Given the description of an element on the screen output the (x, y) to click on. 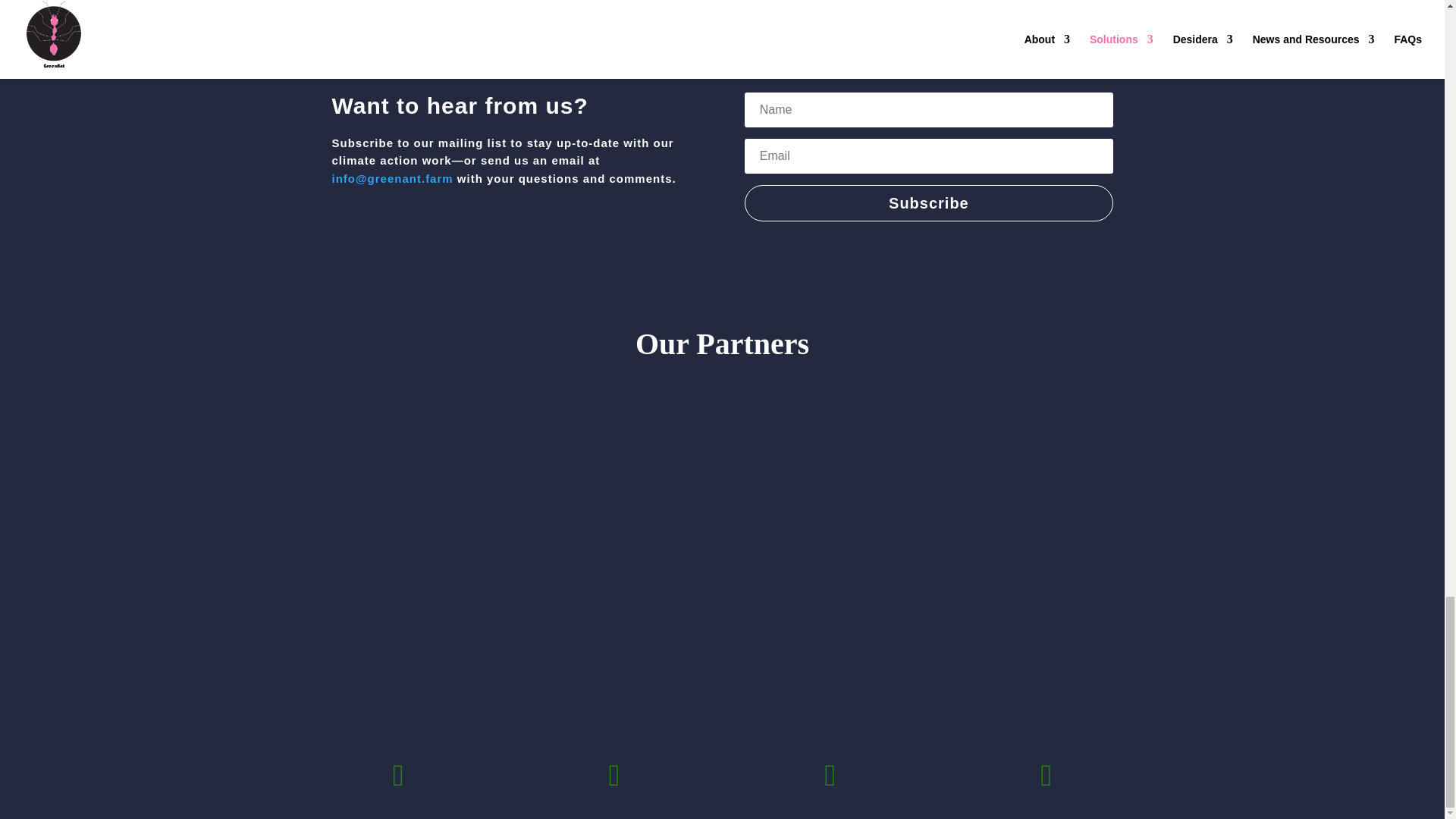
Subscribe (928, 203)
